Given the description of an element on the screen output the (x, y) to click on. 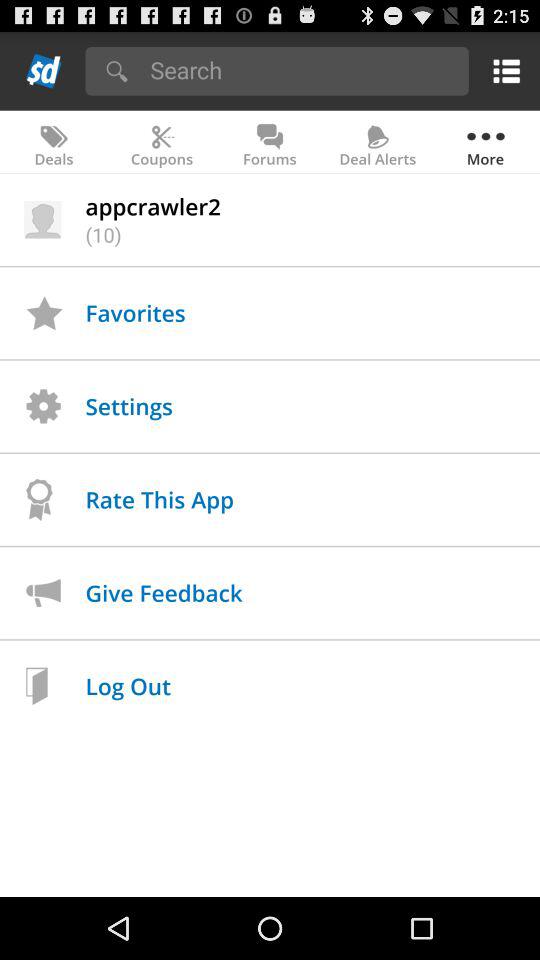
search the product you need (302, 69)
